Given the description of an element on the screen output the (x, y) to click on. 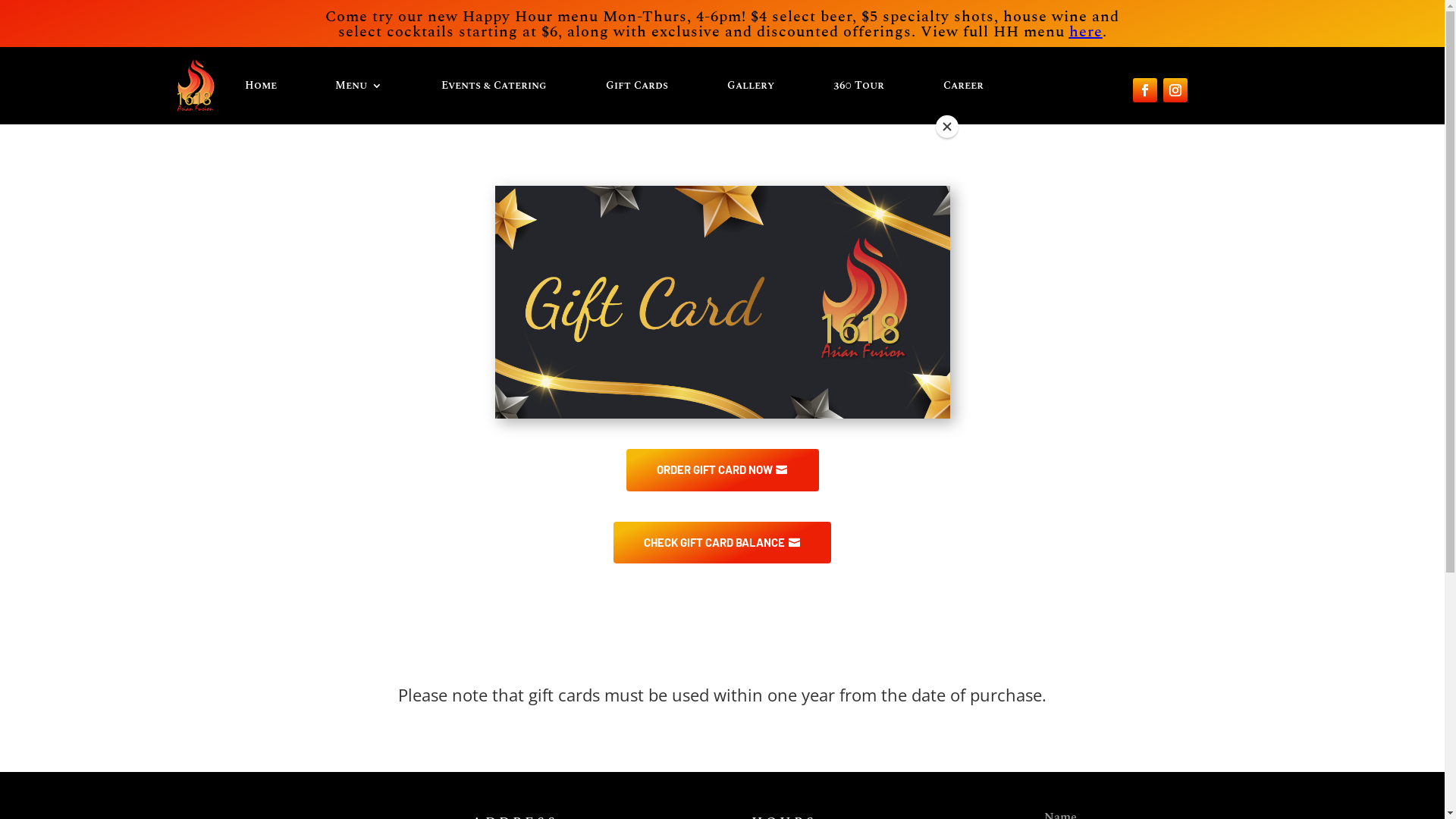
CHECK GIFT CARD BALANCE Element type: text (722, 542)
qqq-01 Element type: hover (721, 301)
Follow on Facebook Element type: hover (1144, 90)
Home Element type: text (260, 85)
360 Tour Element type: text (858, 85)
Gift Cards Element type: text (636, 85)
Gallery Element type: text (750, 85)
Events & Catering Element type: text (493, 85)
here Element type: text (1085, 31)
Menu Element type: text (358, 85)
Career Element type: text (963, 85)
Follow on Instagram Element type: hover (1175, 90)
ORDER GIFT CARD NOW Element type: text (722, 469)
